Given the description of an element on the screen output the (x, y) to click on. 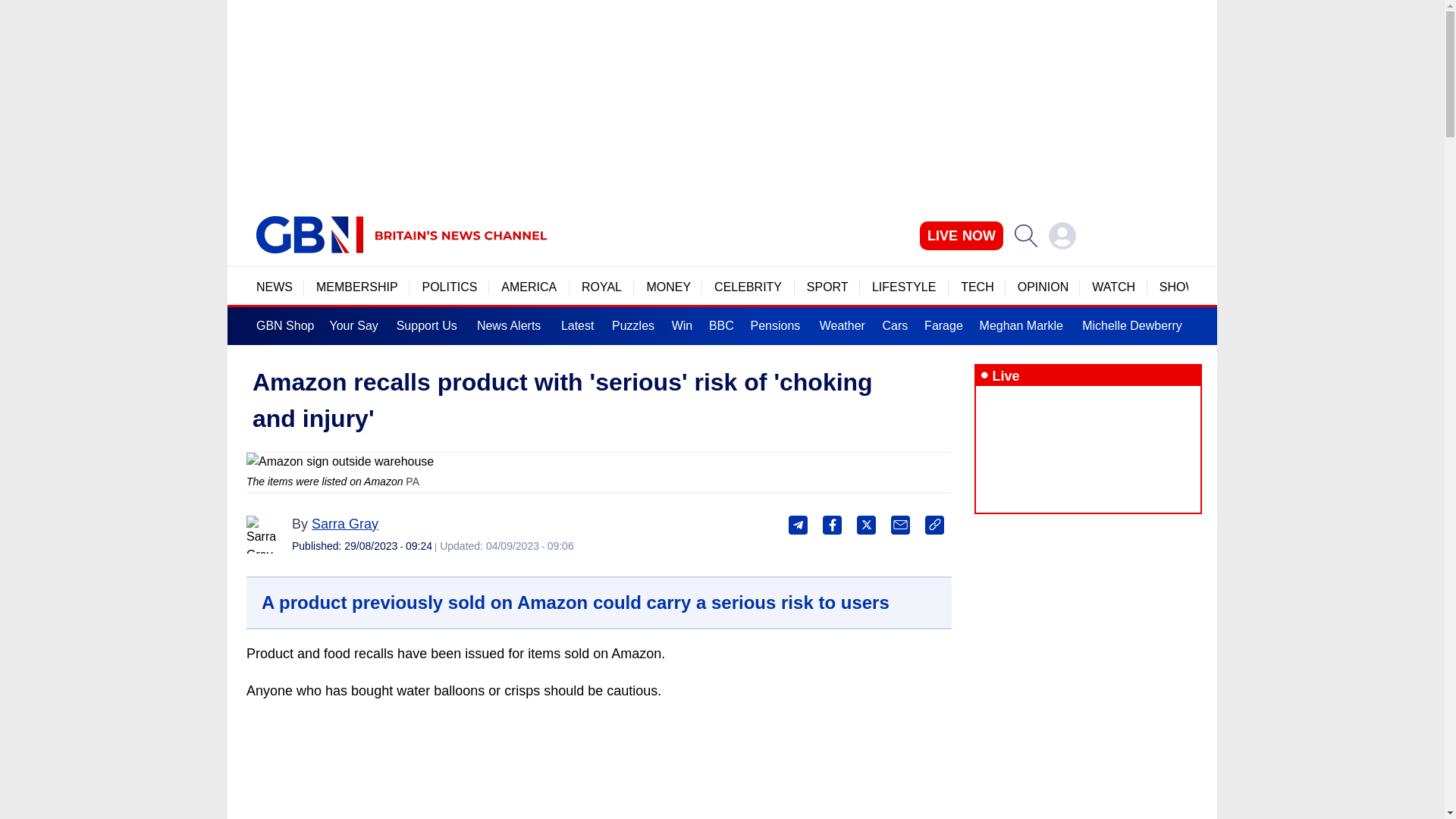
MEMBERSHIP (356, 286)
Sarra Gray (264, 534)
Sarra Gray (344, 523)
Copy this link to clipboard (933, 524)
Search (1025, 235)
LIVE (961, 235)
NEWS (274, 286)
AMERICA (528, 286)
GBN Britain's News Channel (310, 235)
POLITICS (449, 286)
